Given the description of an element on the screen output the (x, y) to click on. 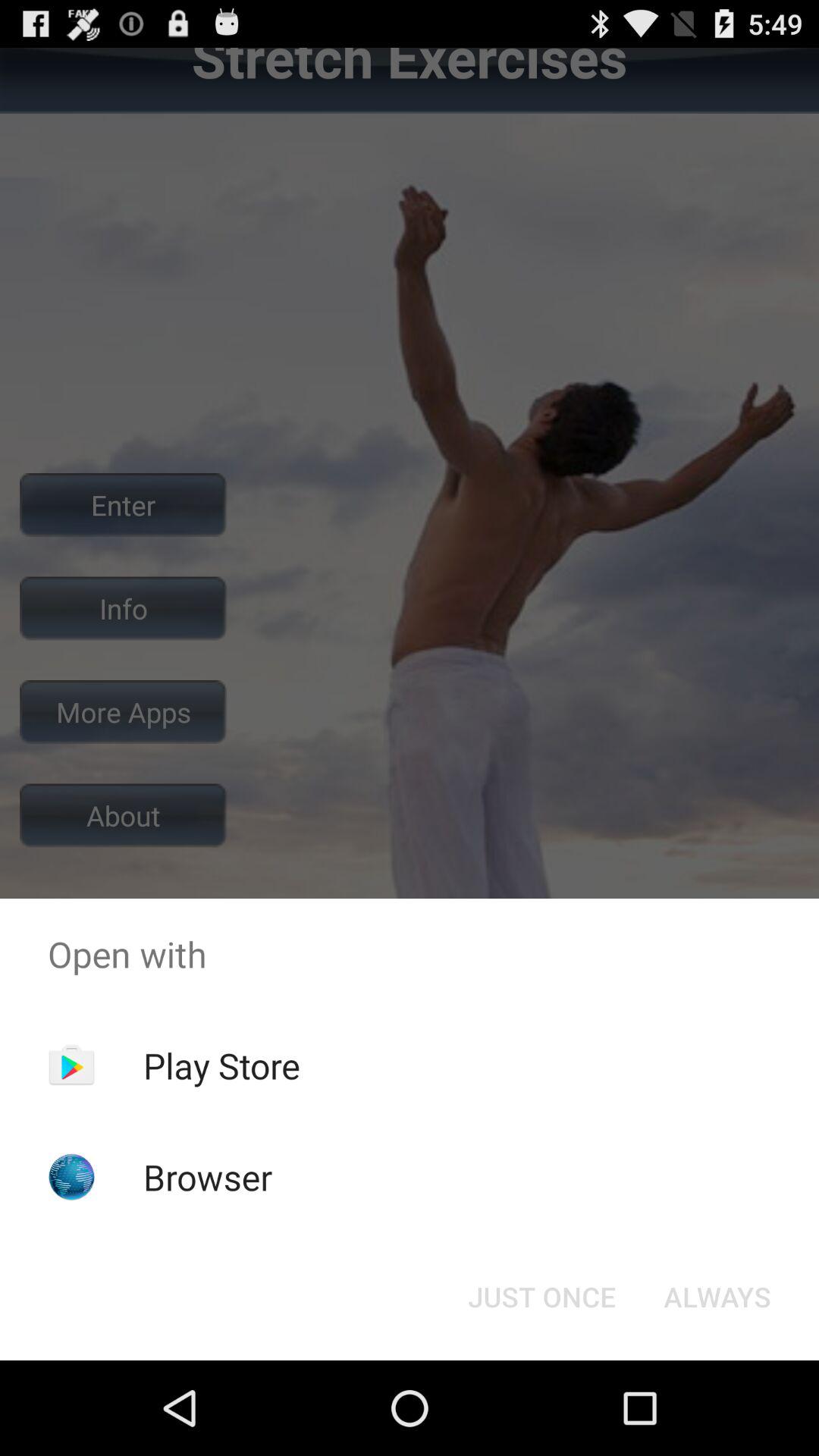
swipe to the just once icon (541, 1296)
